Given the description of an element on the screen output the (x, y) to click on. 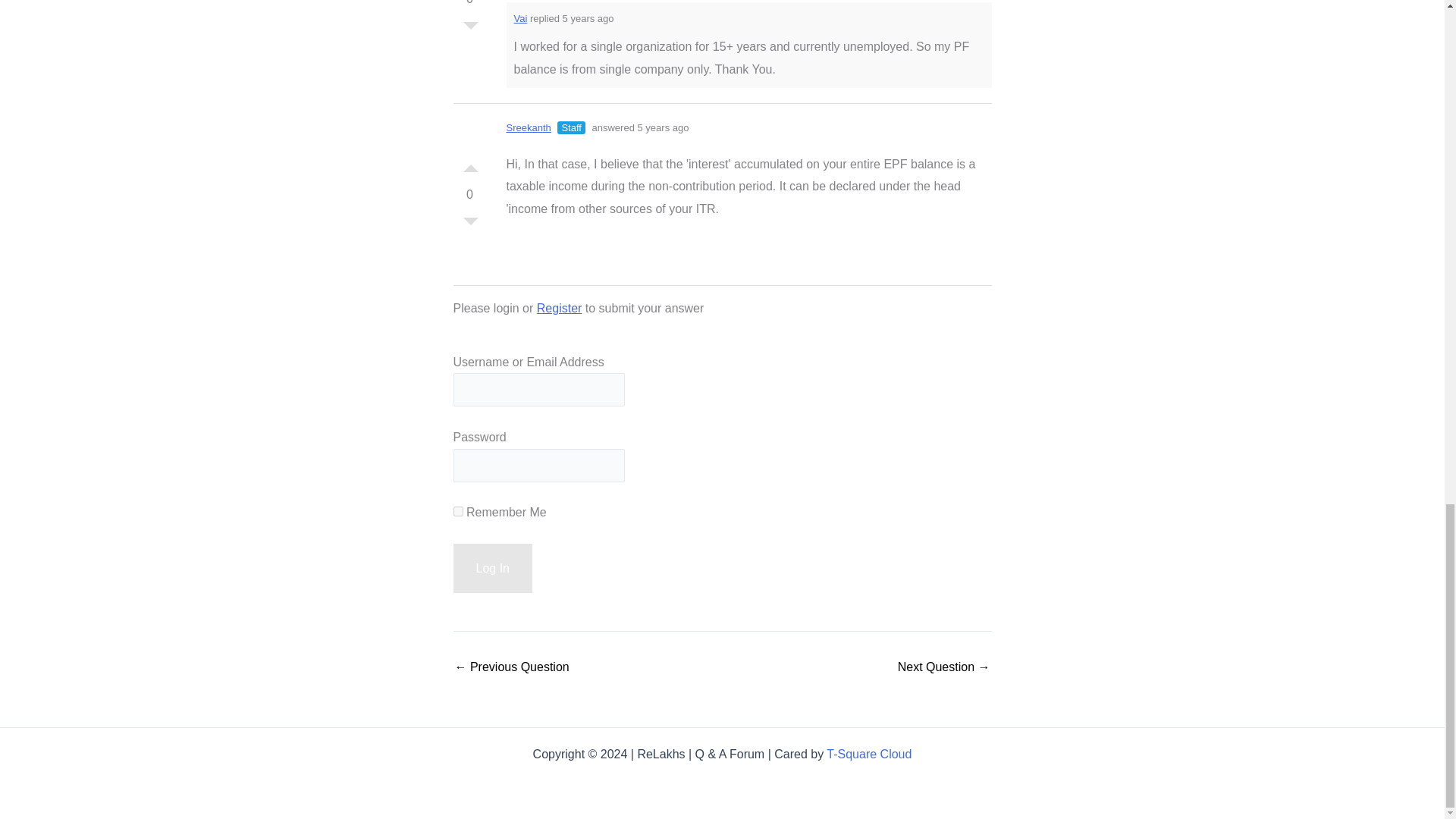
forever (457, 511)
Interest earned from Senior Citizen Savings Schemes account (944, 666)
Vote Up (470, 164)
Vote Down (470, 224)
Vote Down (470, 29)
Vai (520, 18)
How to change name in Form 9 EPF? (511, 666)
Log In (492, 568)
